Given the description of an element on the screen output the (x, y) to click on. 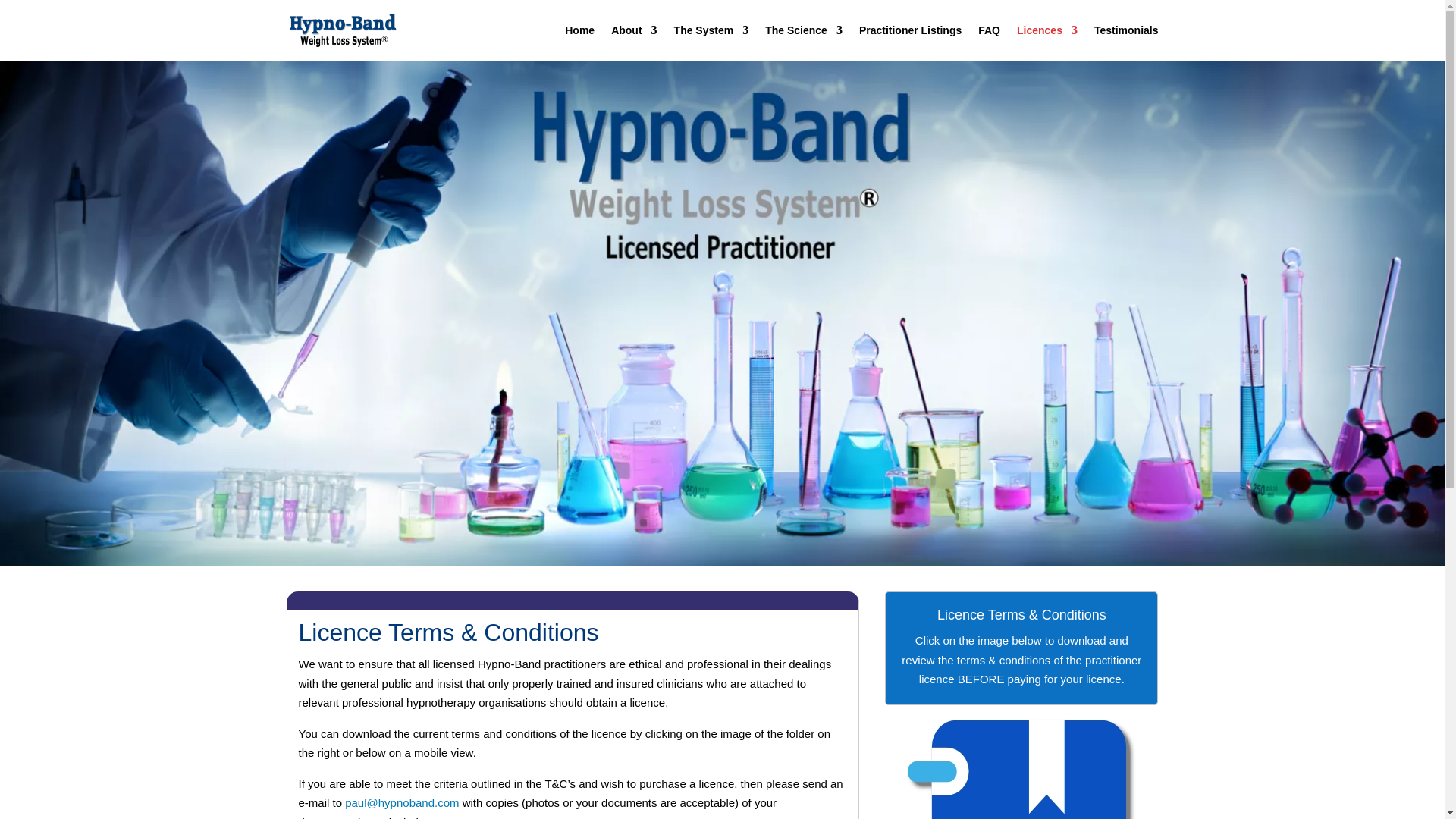
About (633, 42)
Licences (1046, 42)
All about becoming a Hypno-Band Practitioner (1046, 42)
The Science (804, 42)
Practitioner Listings (909, 42)
The System (711, 42)
Testimonials (1126, 42)
